Given the description of an element on the screen output the (x, y) to click on. 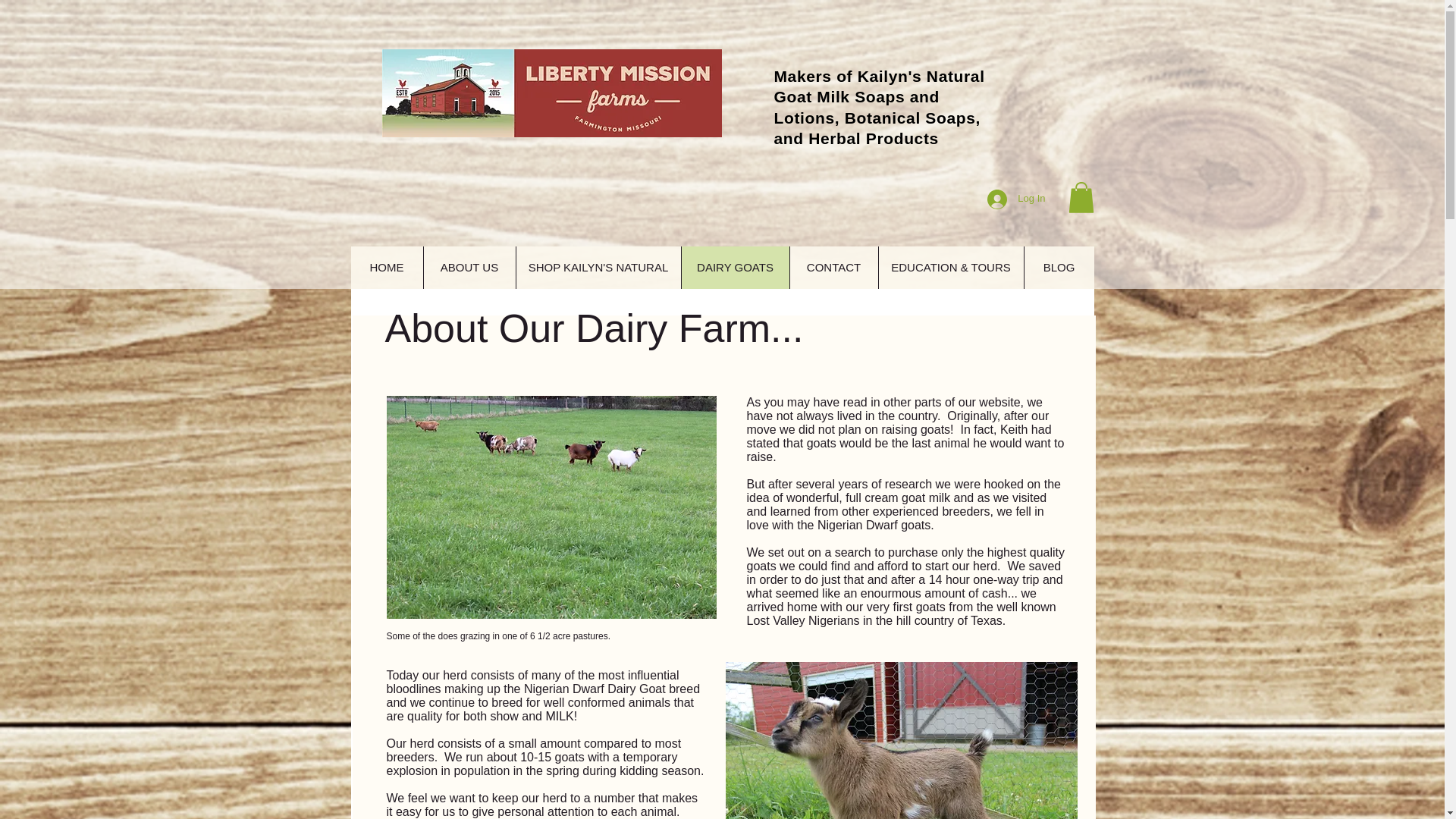
DAIRY GOATS (735, 267)
CONTACT (833, 267)
HOME (386, 267)
Log In (1015, 199)
ABOUT US (469, 267)
BLOG (1058, 267)
SHOP KAILYN'S NATURAL (598, 267)
